Given the description of an element on the screen output the (x, y) to click on. 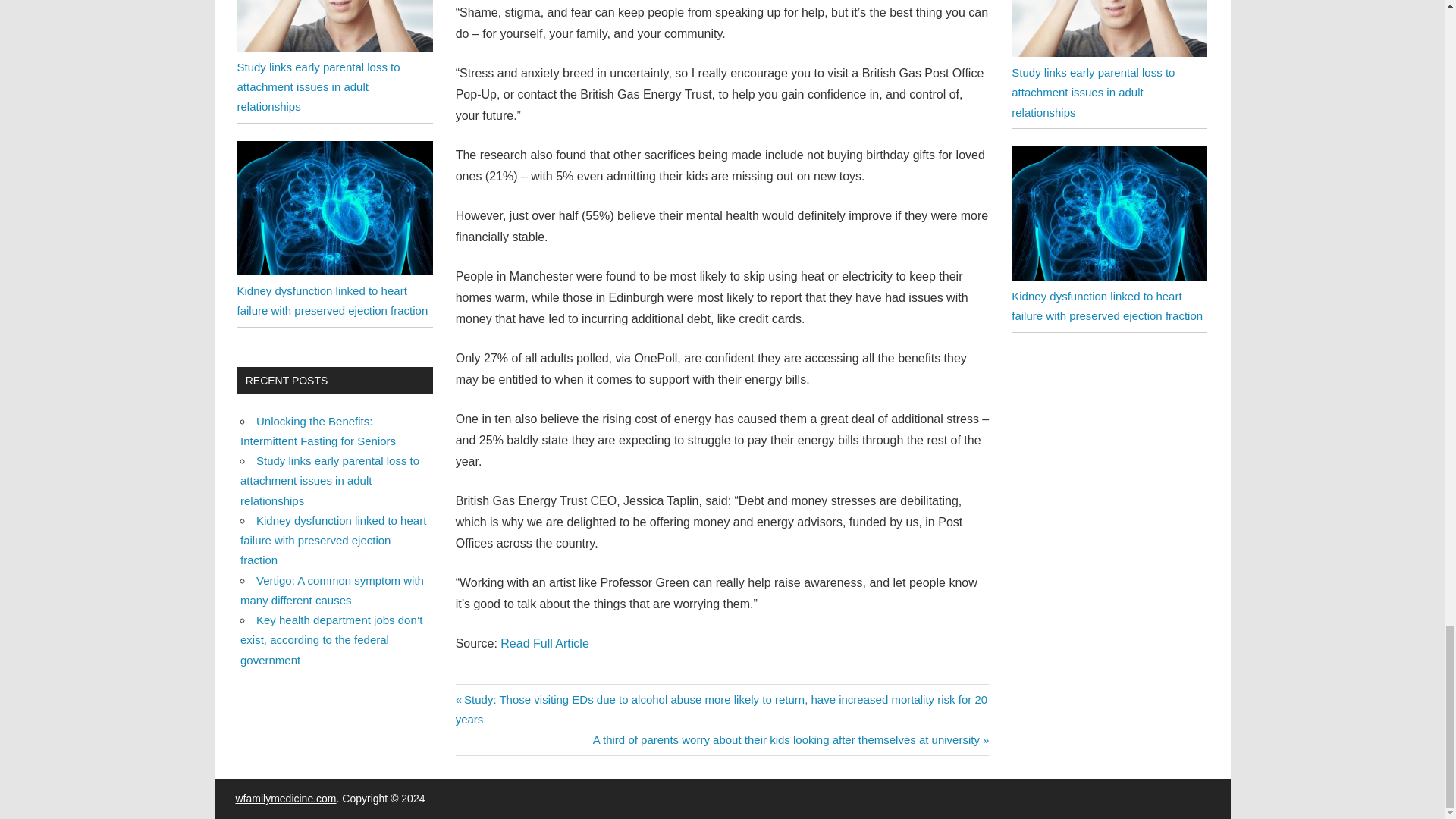
Read Full Article (544, 642)
Vertigo: A common symptom with many different causes (331, 590)
Unlocking the Benefits: Intermittent Fasting for Seniors (318, 430)
